Given the description of an element on the screen output the (x, y) to click on. 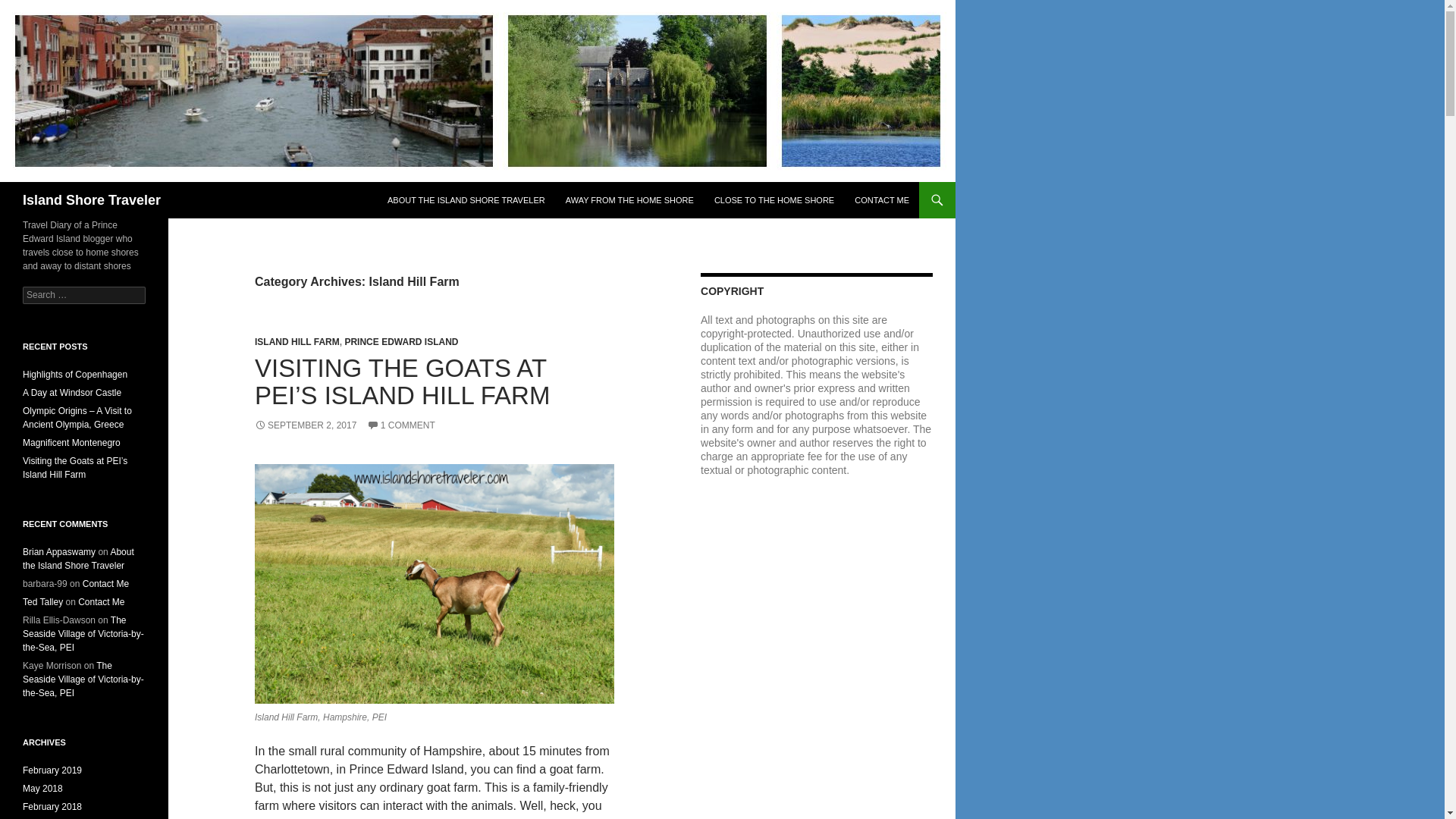
A Day at Windsor Castle (71, 392)
Island Shore Traveler (91, 199)
CLOSE TO THE HOME SHORE (773, 199)
ISLAND HILL FARM (296, 341)
Contact Me (100, 602)
Ted Talley (42, 602)
Contact Me (105, 583)
ABOUT THE ISLAND SHORE TRAVELER (466, 199)
Search (30, 8)
